Given the description of an element on the screen output the (x, y) to click on. 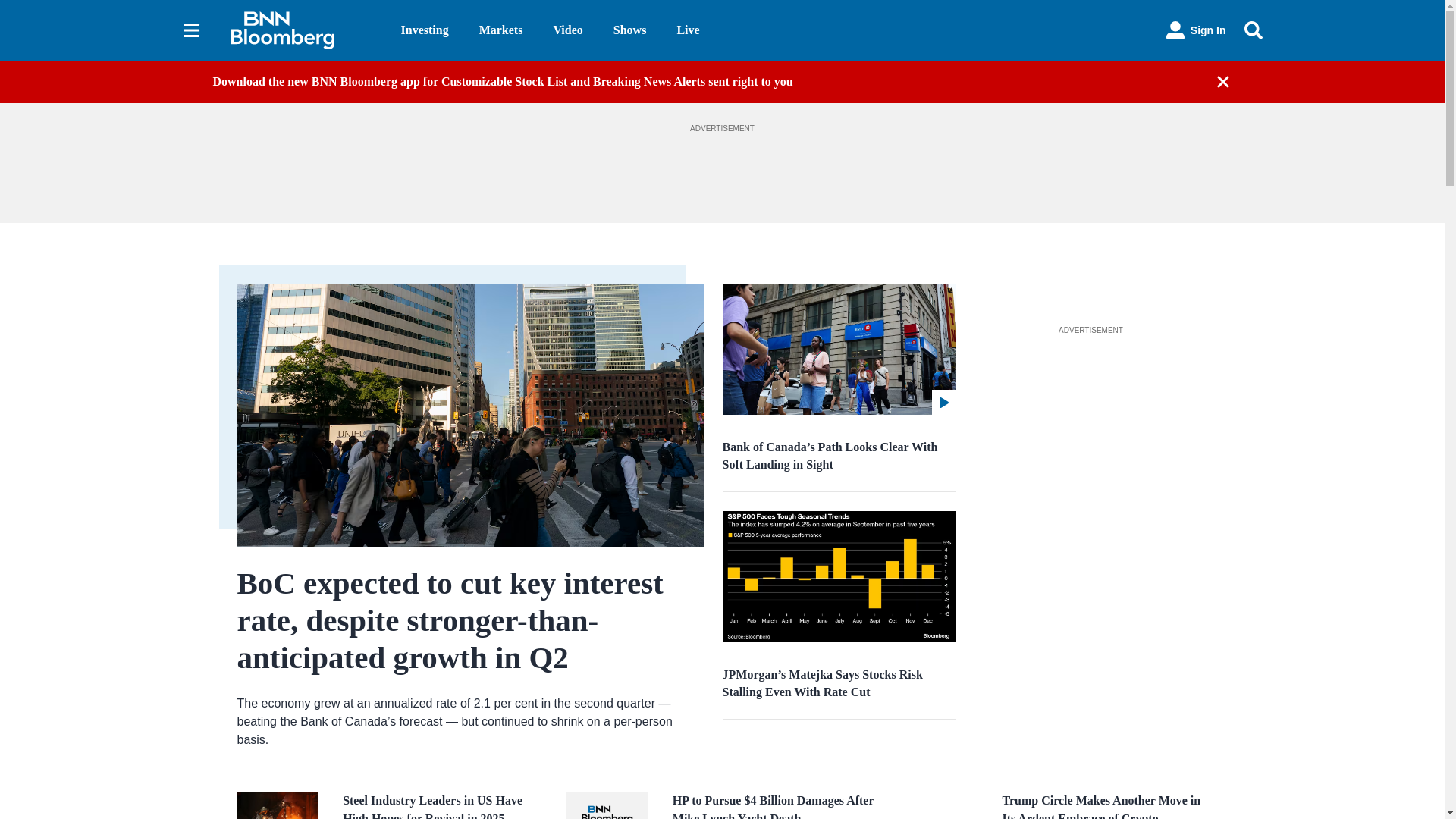
Markets (500, 30)
Sign In (1195, 30)
BNN Bloomberg (302, 30)
Sections (191, 30)
Video (567, 30)
Shows (629, 30)
Live (687, 30)
Investing (424, 30)
